Given the description of an element on the screen output the (x, y) to click on. 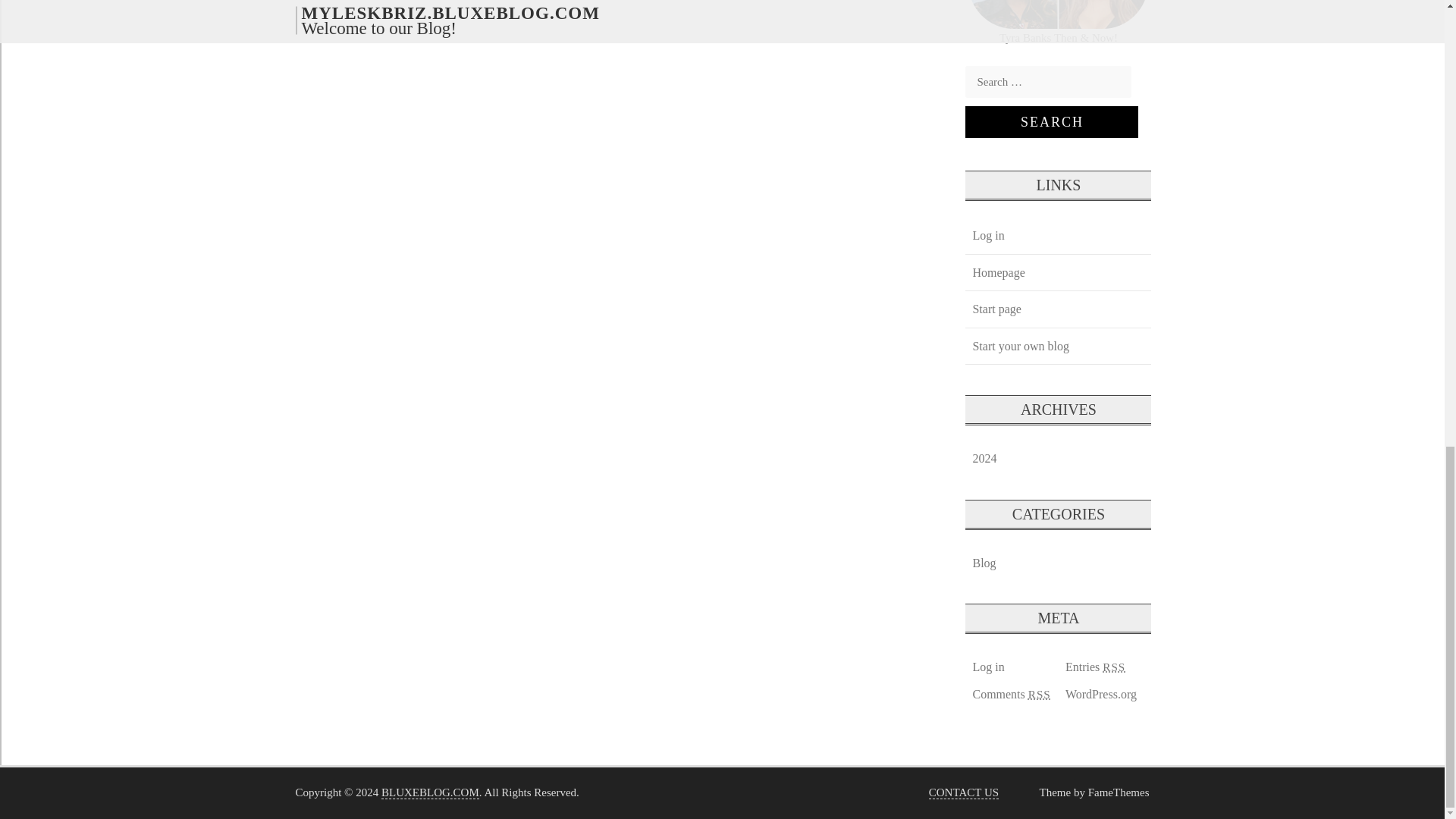
Start your own blog (1020, 345)
Search (1051, 122)
Log in (987, 234)
Really Simple Syndication (1039, 694)
WordPress.org (1100, 693)
Blog (984, 562)
Really Simple Syndication (1113, 666)
CONTACT US (963, 792)
Entries RSS (1095, 666)
Search (1051, 122)
Log in (987, 666)
Comments RSS (1011, 693)
Search (1051, 122)
Homepage (997, 272)
